Given the description of an element on the screen output the (x, y) to click on. 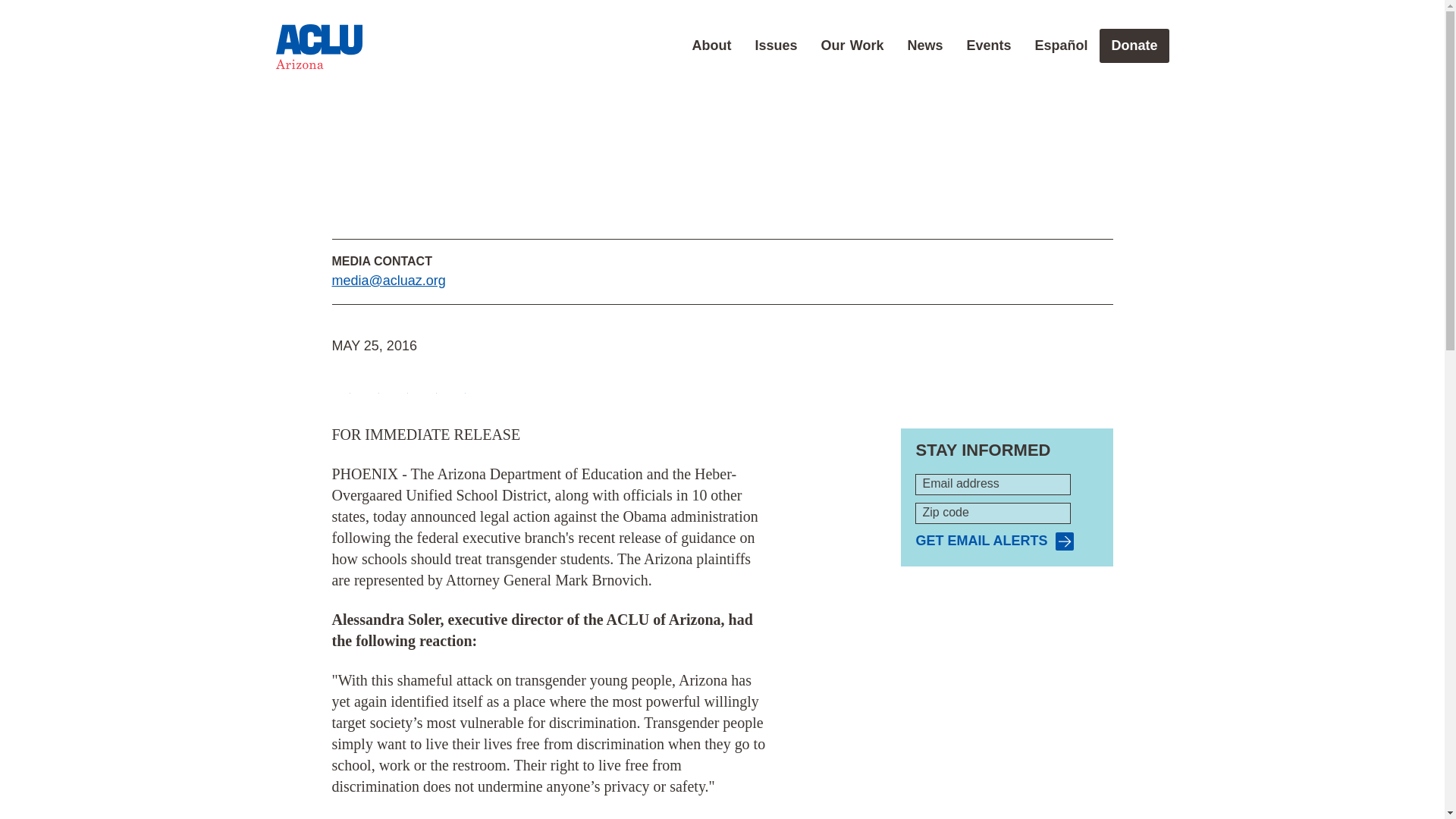
ACLU of Arizona - logo (318, 46)
Donate (1134, 45)
Submit this to Twitter (369, 385)
Email this page (427, 385)
Get email alerts (994, 541)
Email address (992, 484)
Submit this to Facebook (340, 385)
Twitter (369, 385)
Email (427, 385)
